Given the description of an element on the screen output the (x, y) to click on. 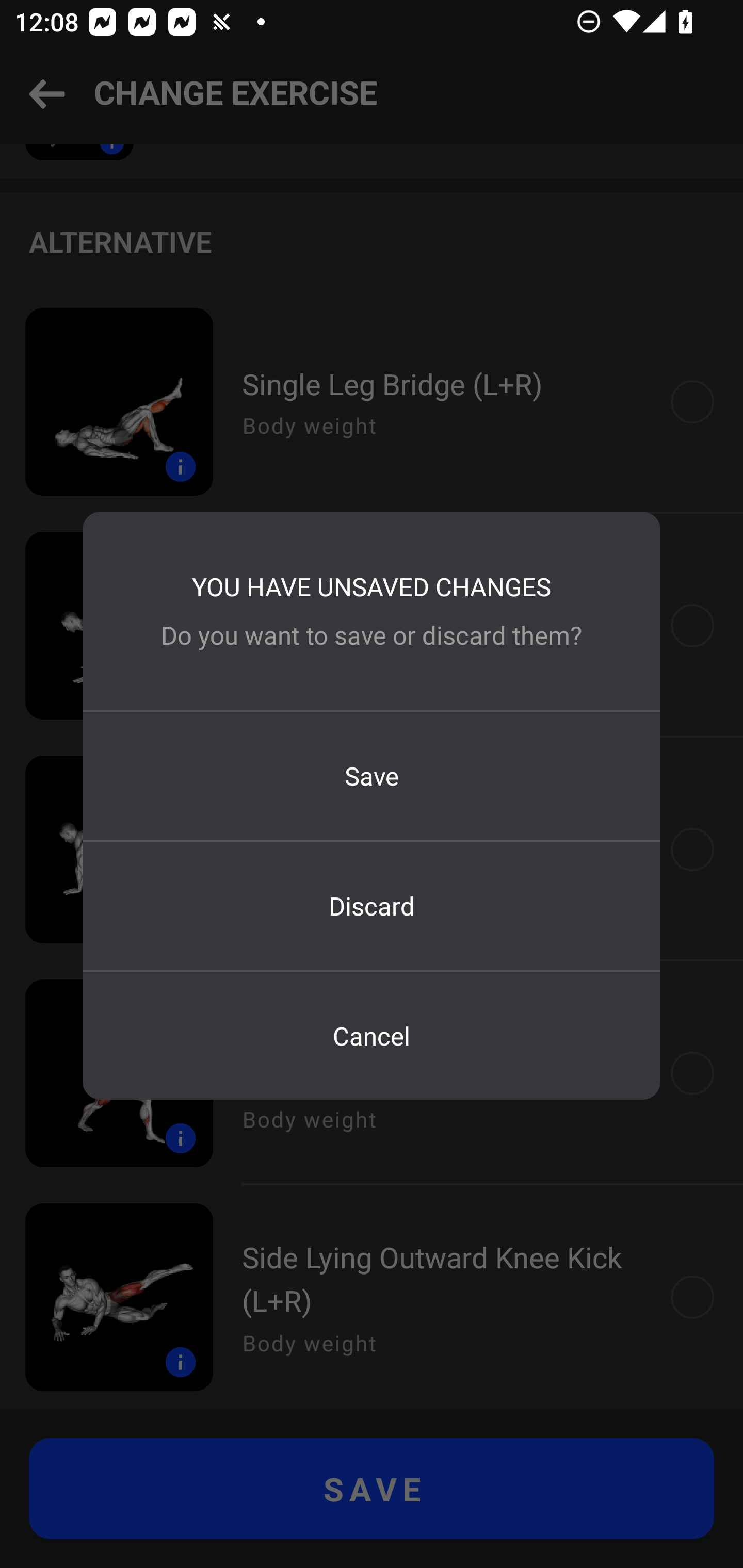
Save (371, 775)
Discard (371, 905)
Cancel (371, 1035)
